Given the description of an element on the screen output the (x, y) to click on. 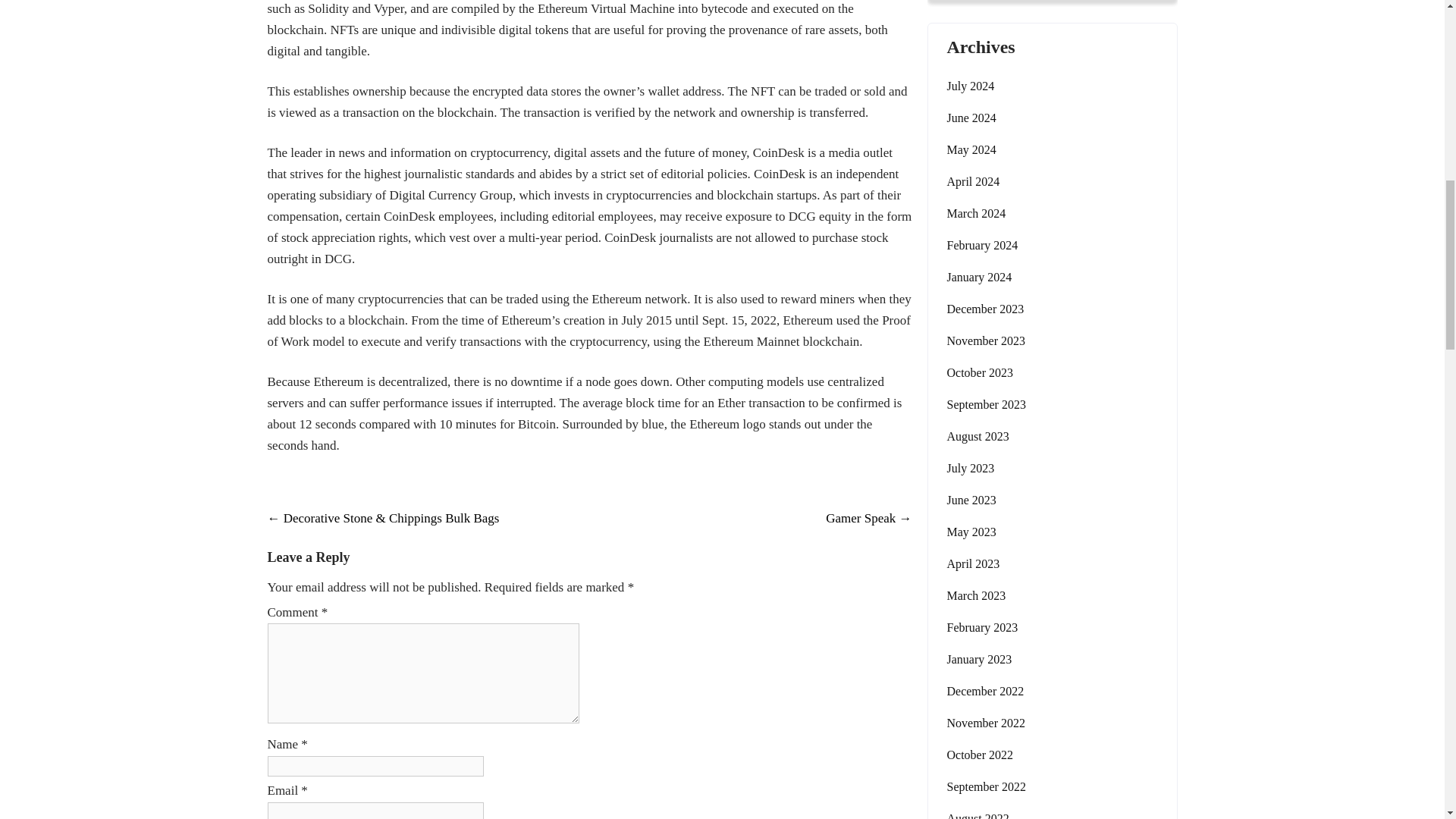
September 2023 (985, 404)
April 2023 (972, 564)
June 2023 (970, 500)
February 2024 (981, 245)
July 2023 (970, 468)
July 2024 (970, 86)
April 2024 (972, 181)
March 2024 (976, 213)
May 2023 (970, 532)
August 2023 (977, 436)
February 2023 (981, 628)
October 2022 (979, 754)
November 2023 (985, 341)
January 2024 (978, 277)
November 2022 (985, 723)
